Given the description of an element on the screen output the (x, y) to click on. 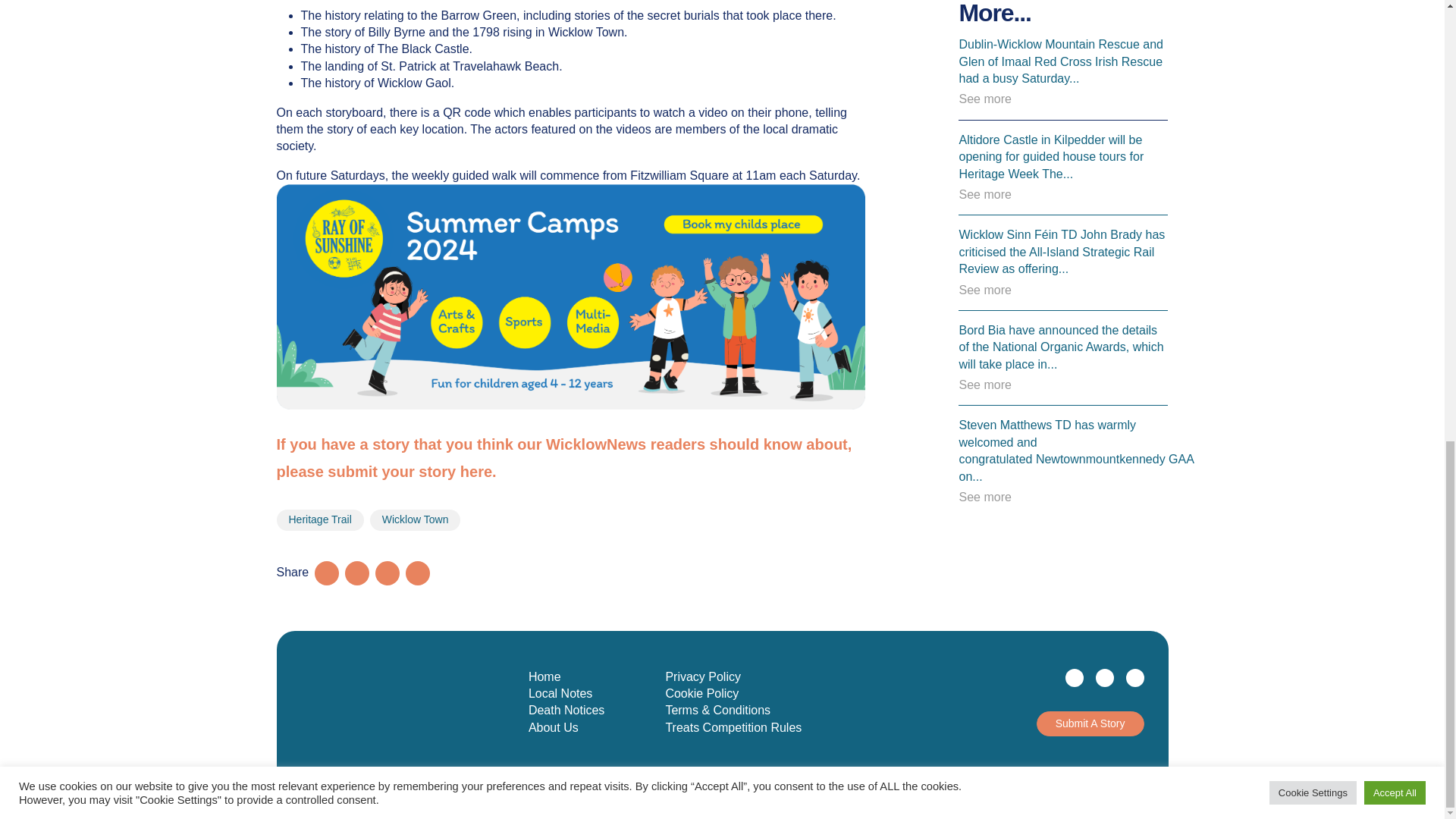
Heritage Trail (319, 519)
Wicklow Town (415, 519)
